Given the description of an element on the screen output the (x, y) to click on. 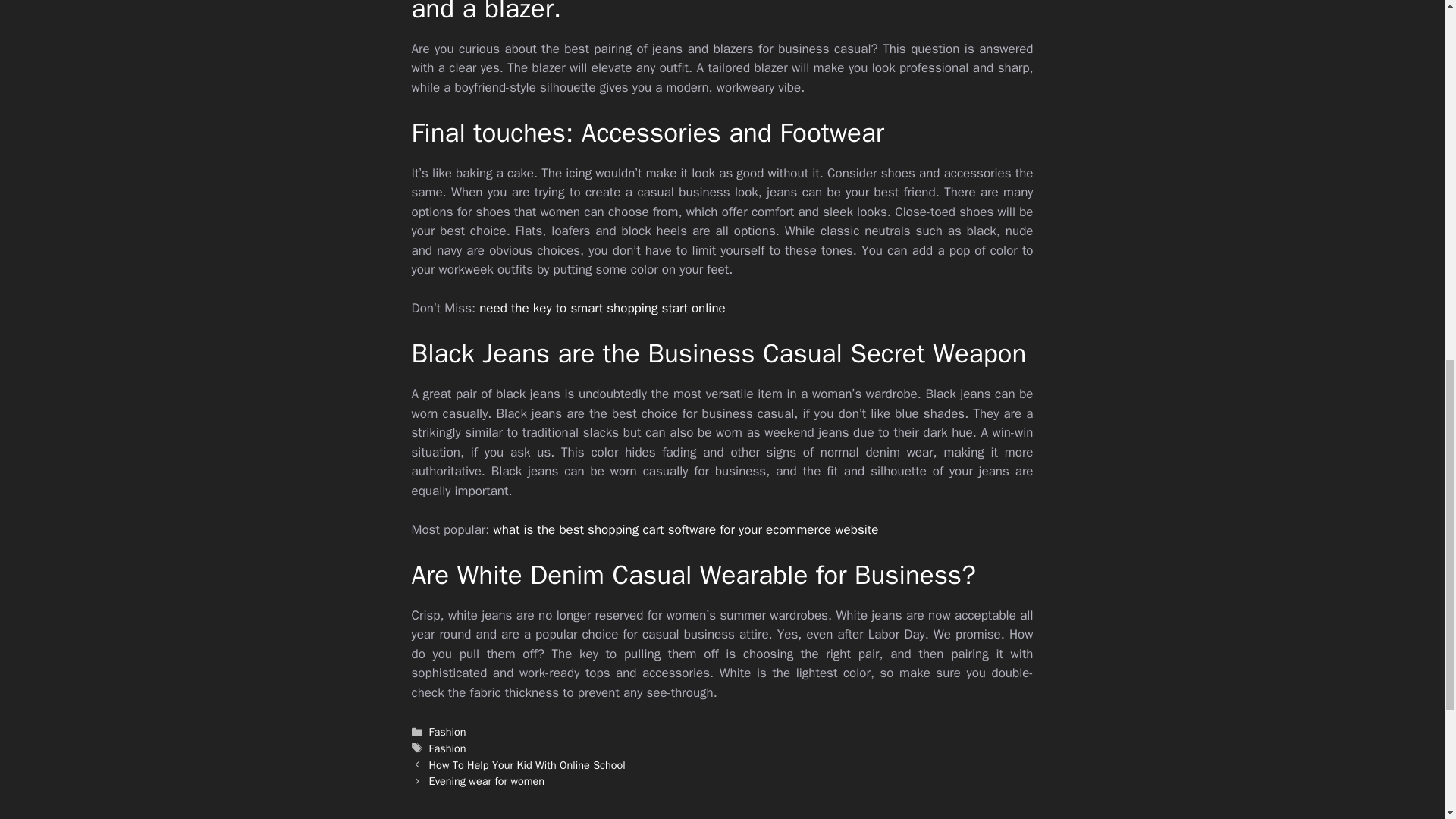
Fashion (447, 748)
Evening wear for women (486, 780)
Fashion (447, 731)
need the key to smart shopping start online (602, 308)
How To Help Your Kid With Online School (527, 765)
